Given the description of an element on the screen output the (x, y) to click on. 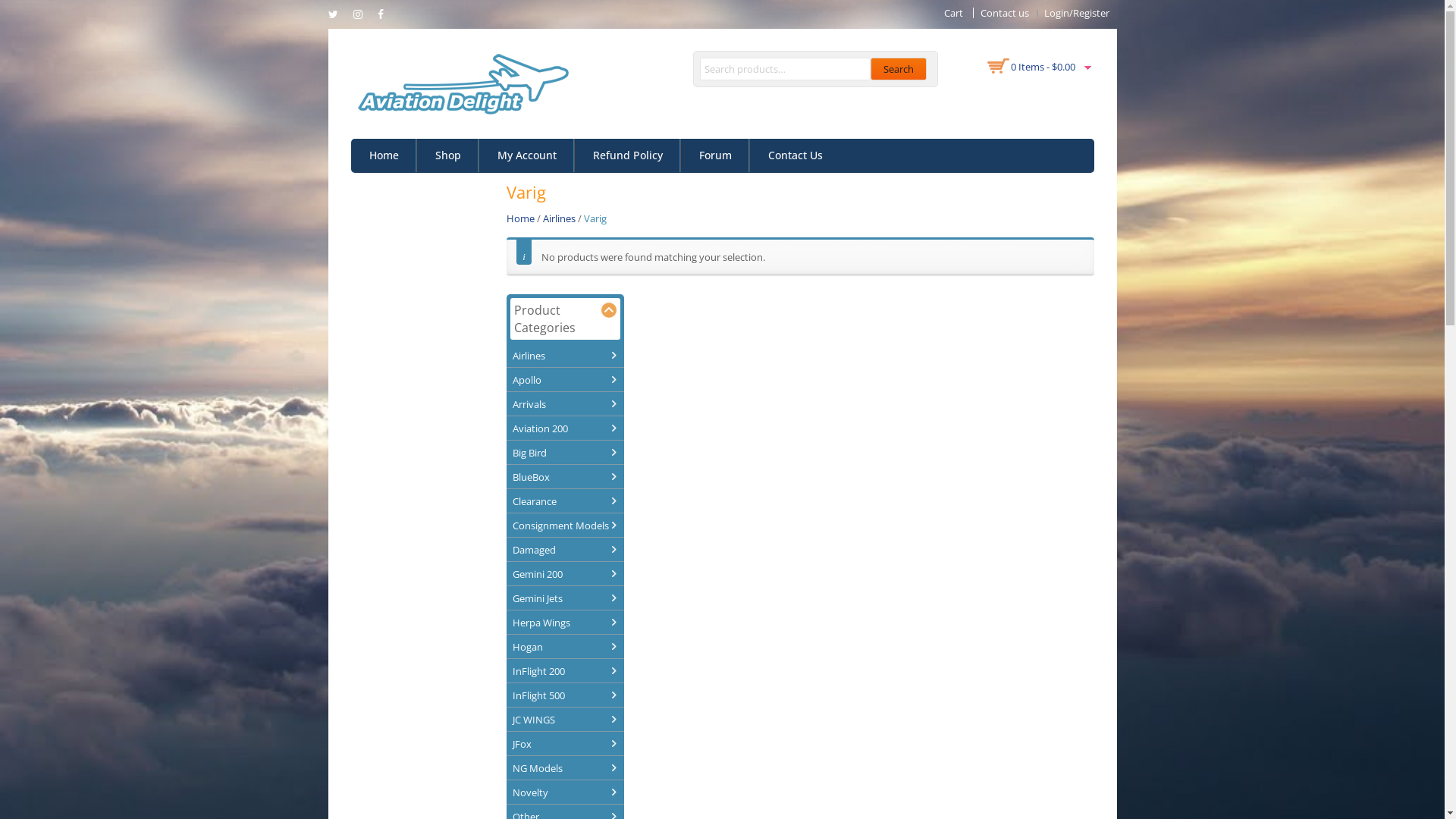
Apollo Element type: text (562, 379)
Contact us Element type: text (1003, 12)
My Account Element type: text (526, 155)
JFox Element type: text (562, 743)
Clearance Element type: text (562, 501)
InFlight 500 Element type: text (562, 695)
Forum Element type: text (714, 155)
NG Models Element type: text (562, 768)
Shop Element type: text (448, 155)
Aviation 200 Element type: text (562, 428)
Gemini Jets Element type: text (562, 598)
Arrivals Element type: text (562, 404)
JC WINGS Element type: text (562, 719)
Gemini 200 Element type: text (562, 573)
InFlight 200 Element type: text (562, 670)
Contact Us Element type: text (794, 155)
Search Element type: text (898, 68)
Cart Element type: text (952, 12)
Hogan Element type: text (562, 646)
0 Items - $0.00 Element type: text (1042, 66)
Big Bird Element type: text (562, 452)
Home Element type: text (383, 155)
Airlines Element type: text (562, 355)
Herpa Wings Element type: text (562, 622)
Airlines Element type: text (558, 218)
Damaged Element type: text (562, 549)
Consignment Models Element type: text (562, 525)
Login/Register Element type: text (1075, 12)
Novelty Element type: text (562, 792)
BlueBox Element type: text (562, 476)
Home Element type: text (520, 218)
Refund Policy Element type: text (627, 155)
Aviation Delight Element type: hover (459, 82)
